Given the description of an element on the screen output the (x, y) to click on. 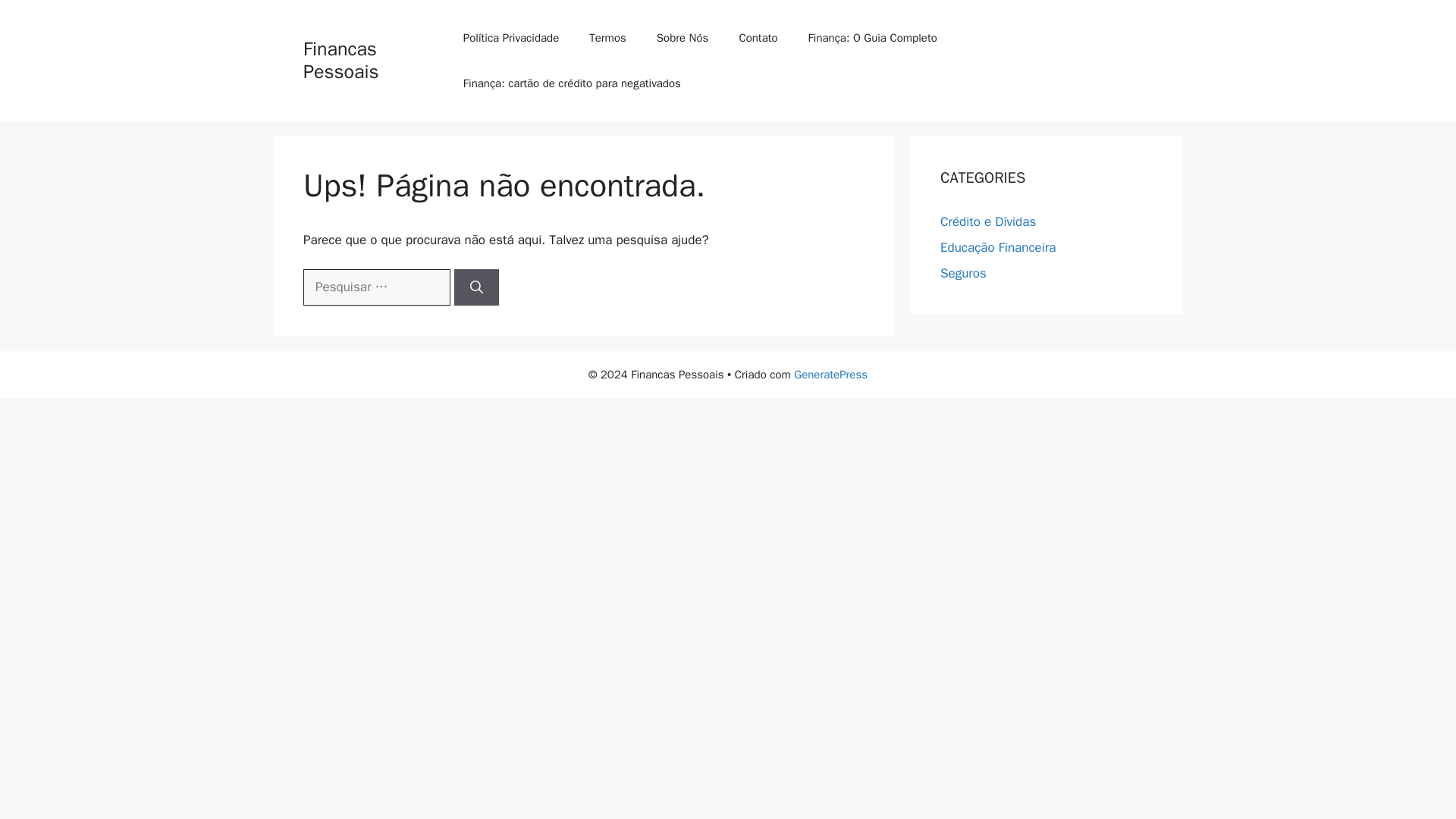
Pesquisar por: (375, 287)
Seguros (963, 273)
Termos (607, 37)
Contato (757, 37)
GeneratePress (830, 374)
Financas Pessoais (340, 59)
